Given the description of an element on the screen output the (x, y) to click on. 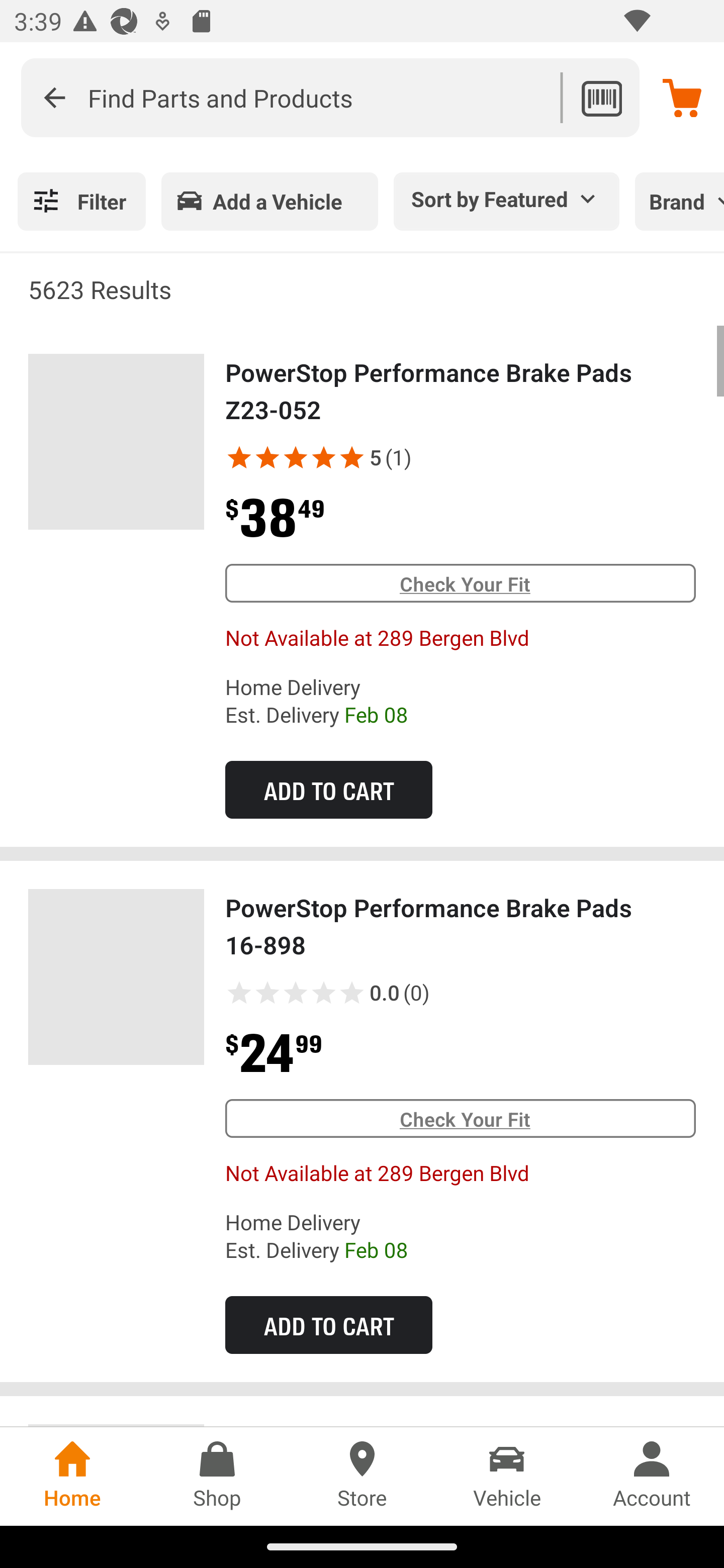
 scan-product-to-search  (601, 97)
 (54, 97)
Cart, no items  (681, 97)
Filter (81, 201)
 Add a Vehicle (269, 201)
Brand  (679, 201)
collapsed Sort by Featured  (506, 198)
PowerStop Performance Brake Pads Z23-052 (116, 441)
 (239, 457)
 (267, 457)
 (295, 457)
 (323, 457)
 (352, 457)
Check your fit Check Your Fit (460, 583)
Add to cart ADD TO CART (328, 789)
PowerStop Performance Brake Pads 16-898 (116, 976)
Press to rate 1 out of 5  (239, 992)
Press to rate 2 out of 5  (267, 992)
Press to rate 3 out of 5  (295, 992)
Press to rate 4 out of 5  (323, 992)
Press to rate 5 out of 5  (352, 992)
Check your fit Check Your Fit (460, 1118)
Add to cart ADD TO CART (328, 1324)
Home (72, 1475)
Shop (216, 1475)
Store (361, 1475)
Vehicle (506, 1475)
Account (651, 1475)
